Given the description of an element on the screen output the (x, y) to click on. 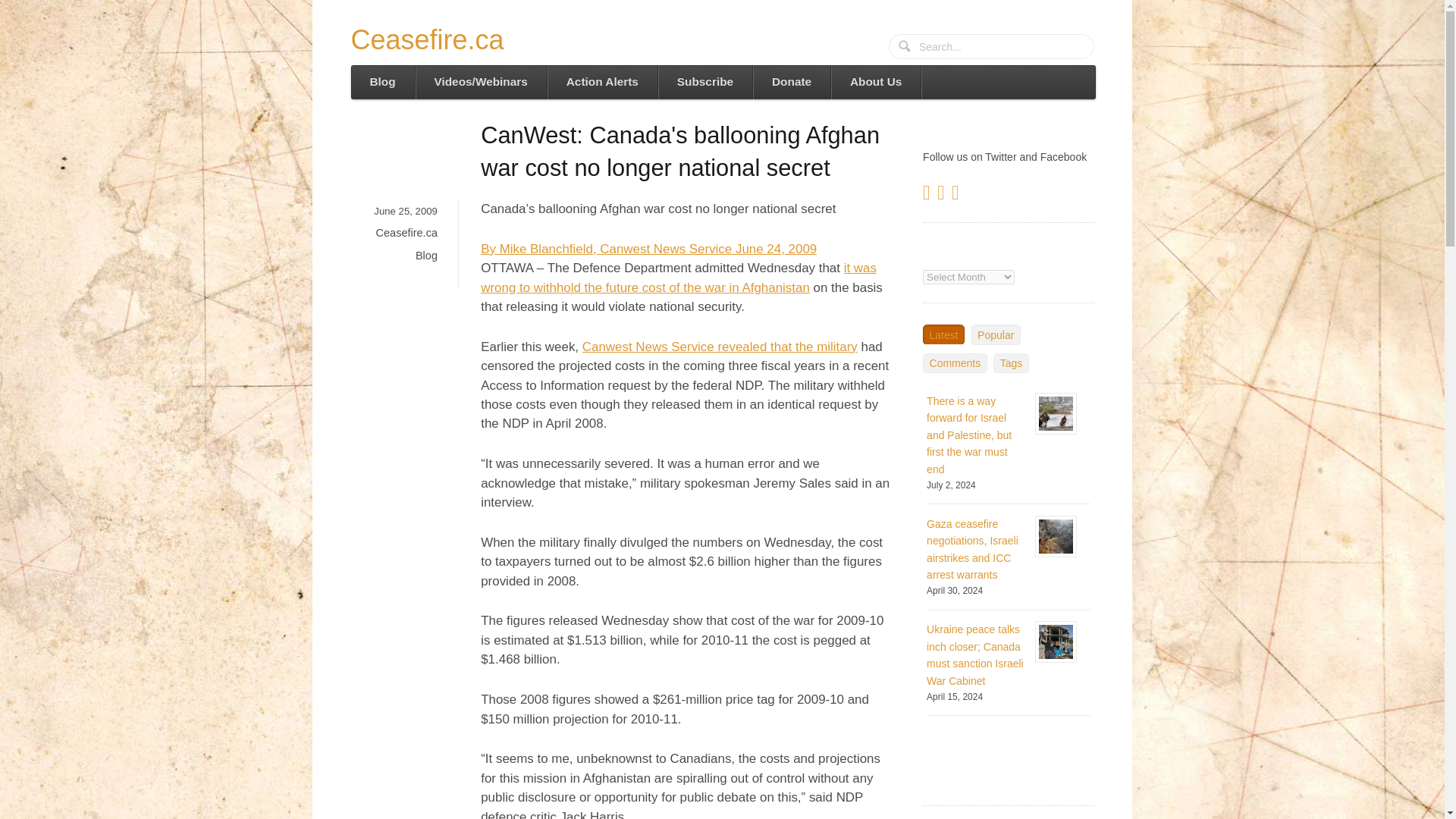
Comments (955, 362)
Twitter (928, 195)
About Us (875, 82)
Facebook (943, 195)
Flickr (957, 195)
Blog (381, 82)
Tags (1009, 362)
Canwest News Service revealed that the military (719, 346)
Search (906, 47)
Latest (943, 334)
Action Alerts (602, 82)
